Given the description of an element on the screen output the (x, y) to click on. 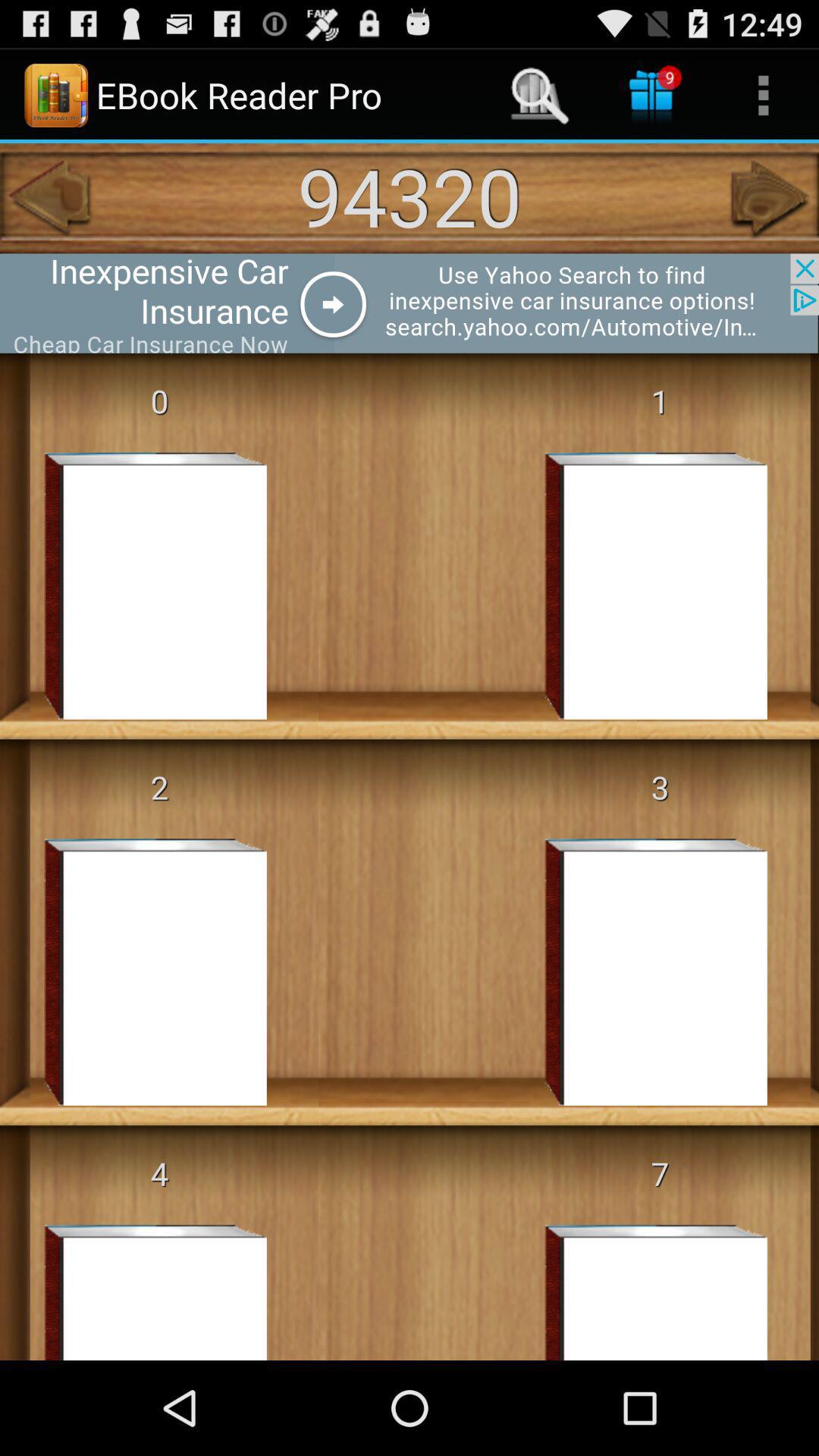
click item above the 94320 (763, 95)
